Given the description of an element on the screen output the (x, y) to click on. 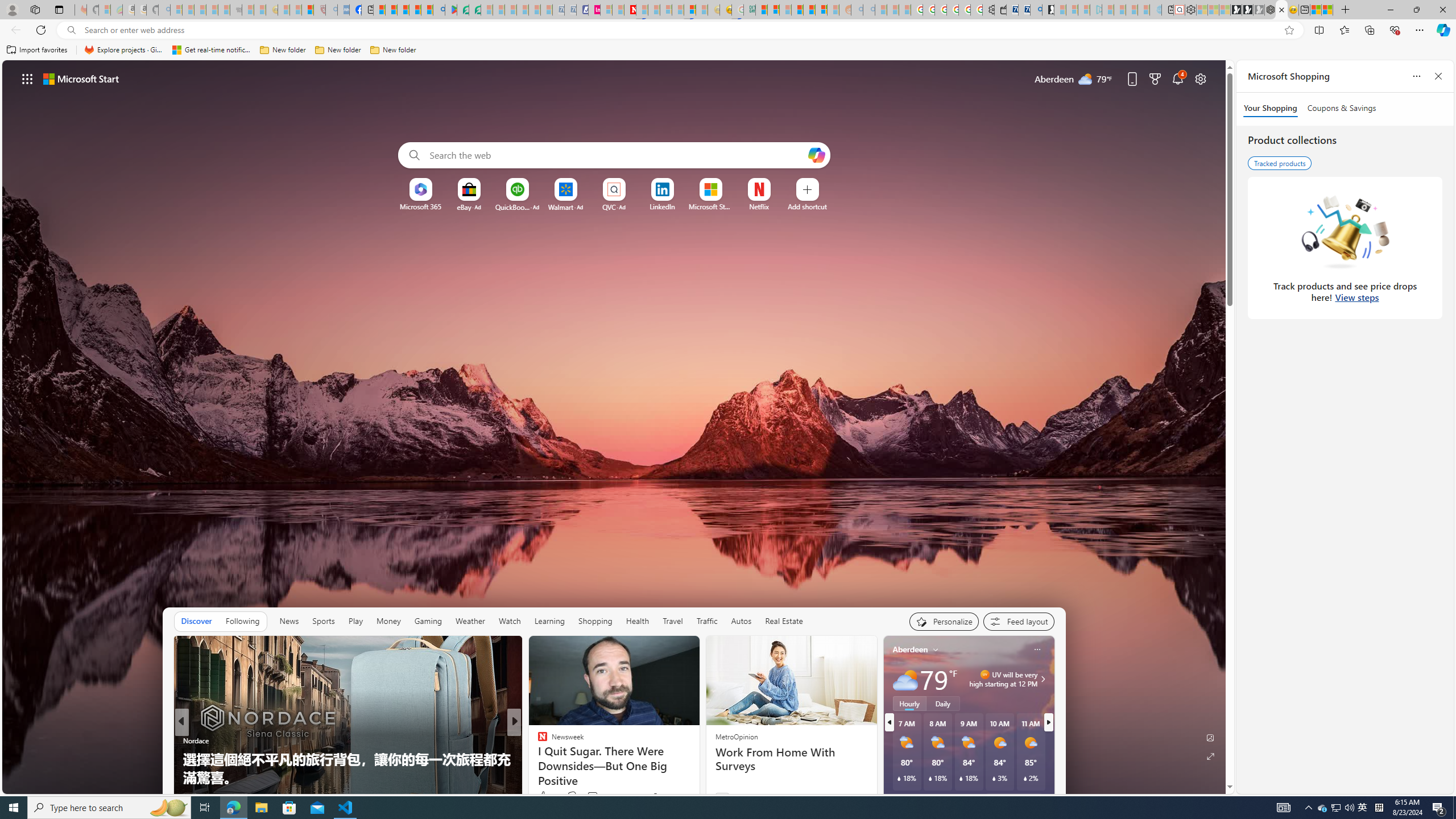
View comments 134 Comment (595, 796)
658 Like (545, 796)
View comments 25 Comment (597, 796)
Enter your search term (617, 155)
Search icon (70, 29)
View comments 25 Comment (592, 797)
previous (888, 722)
The Associated Press (537, 740)
Class: icon-img (1037, 649)
